Given the description of an element on the screen output the (x, y) to click on. 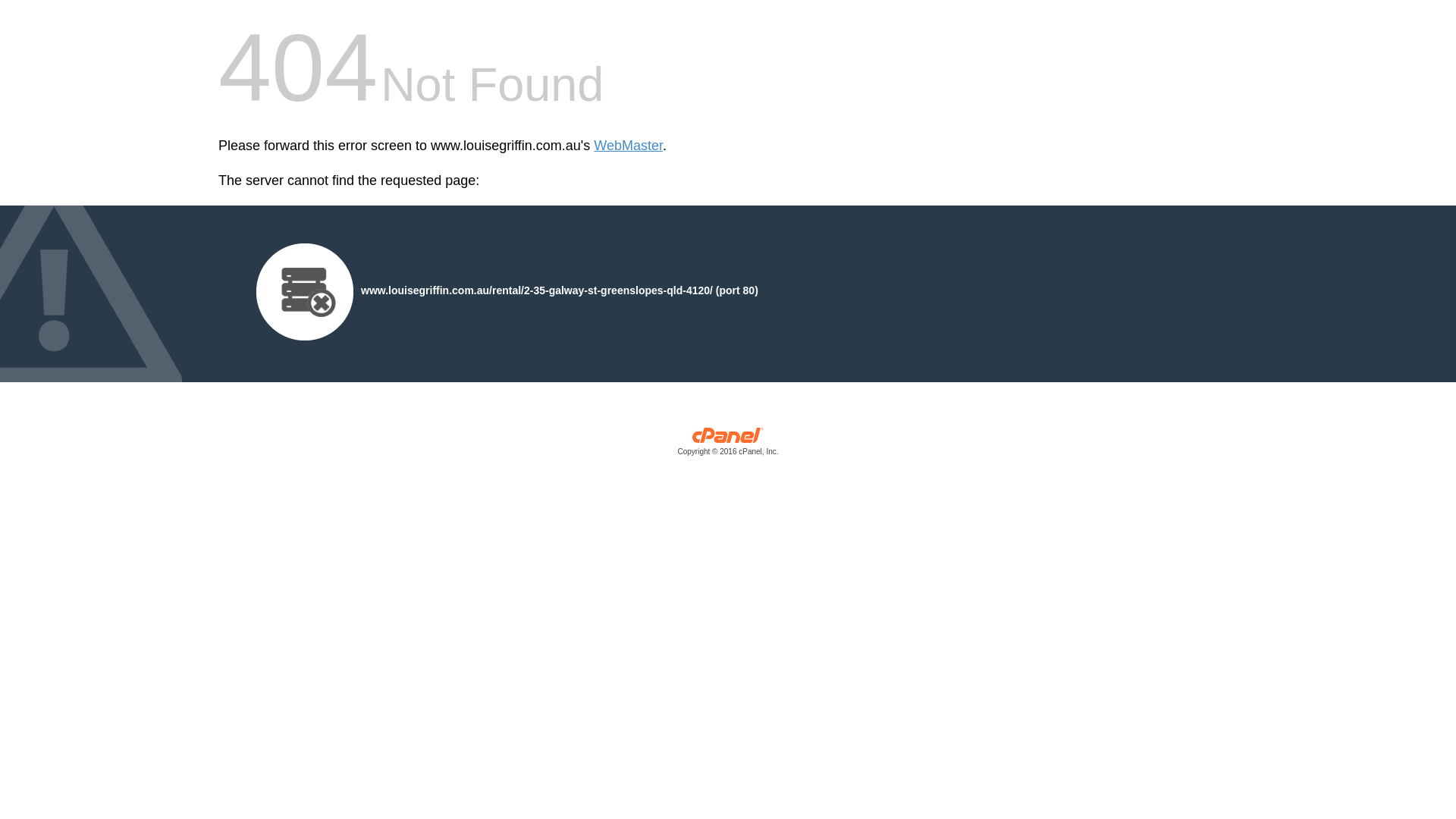
WebMaster Element type: text (627, 145)
